Given the description of an element on the screen output the (x, y) to click on. 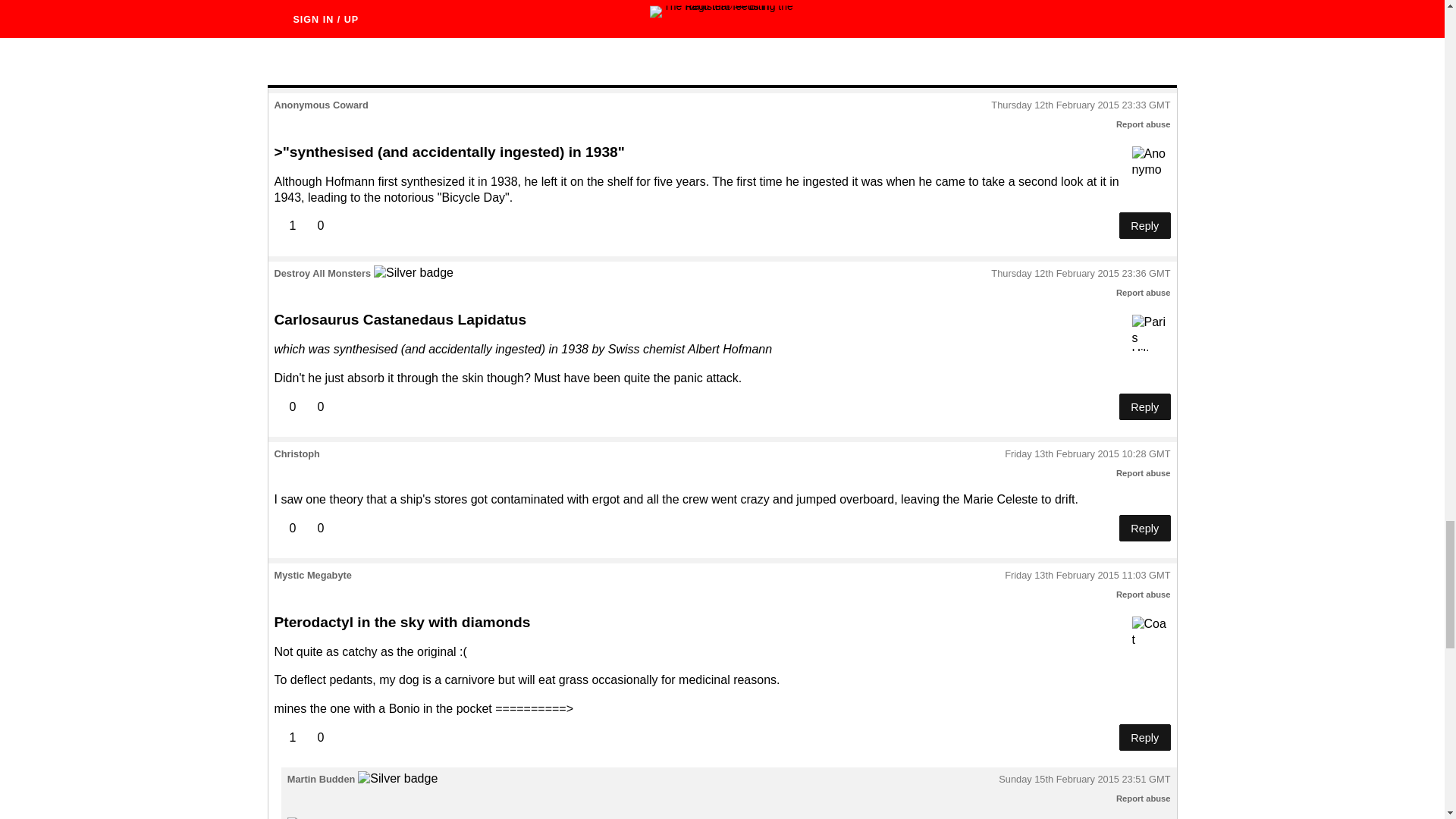
Report abuse (1143, 292)
Report abuse (1143, 123)
